Given the description of an element on the screen output the (x, y) to click on. 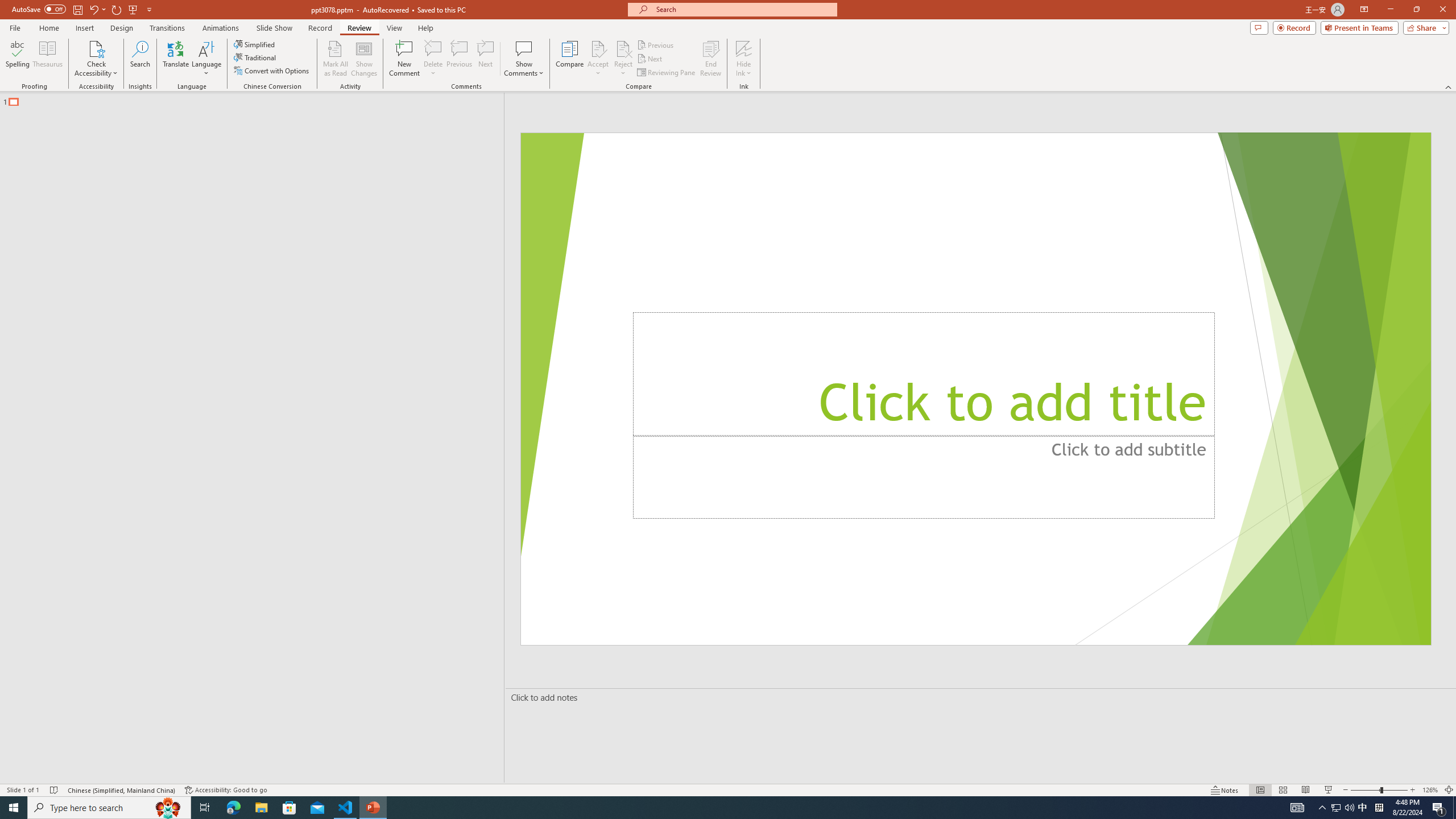
Show Comments (524, 48)
Delete (432, 48)
Outline (256, 99)
Traditional (255, 56)
Thesaurus... (47, 58)
New Comment (403, 58)
